Given the description of an element on the screen output the (x, y) to click on. 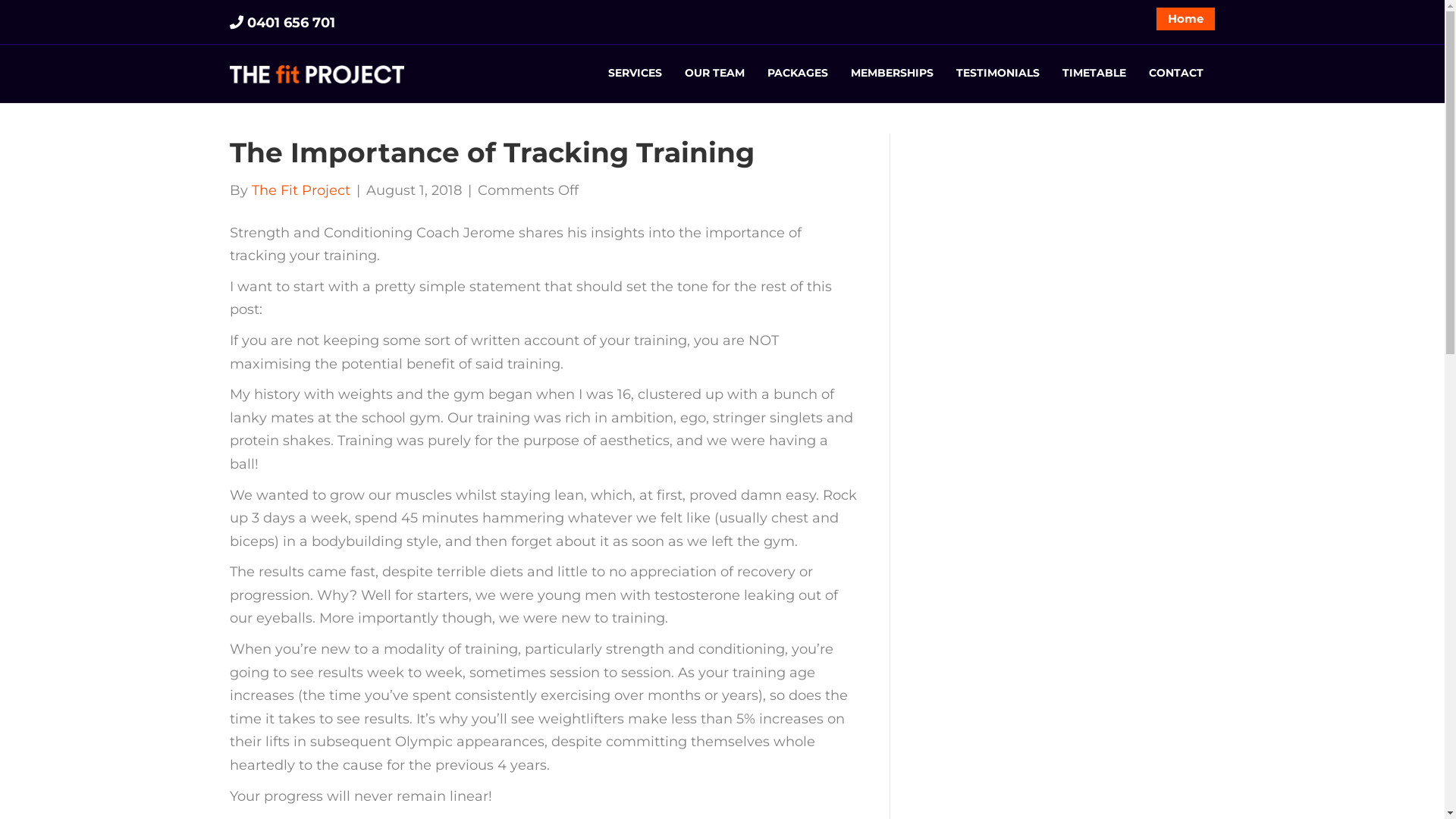
TESTIMONIALS Element type: text (997, 73)
The Fit Project Element type: text (300, 190)
CONTACT Element type: text (1175, 73)
Home Element type: text (1185, 18)
SERVICES Element type: text (634, 73)
MEMBERSHIPS Element type: text (891, 73)
PACKAGES Element type: text (797, 73)
OUR TEAM Element type: text (714, 73)
TIMETABLE Element type: text (1094, 73)
